Given the description of an element on the screen output the (x, y) to click on. 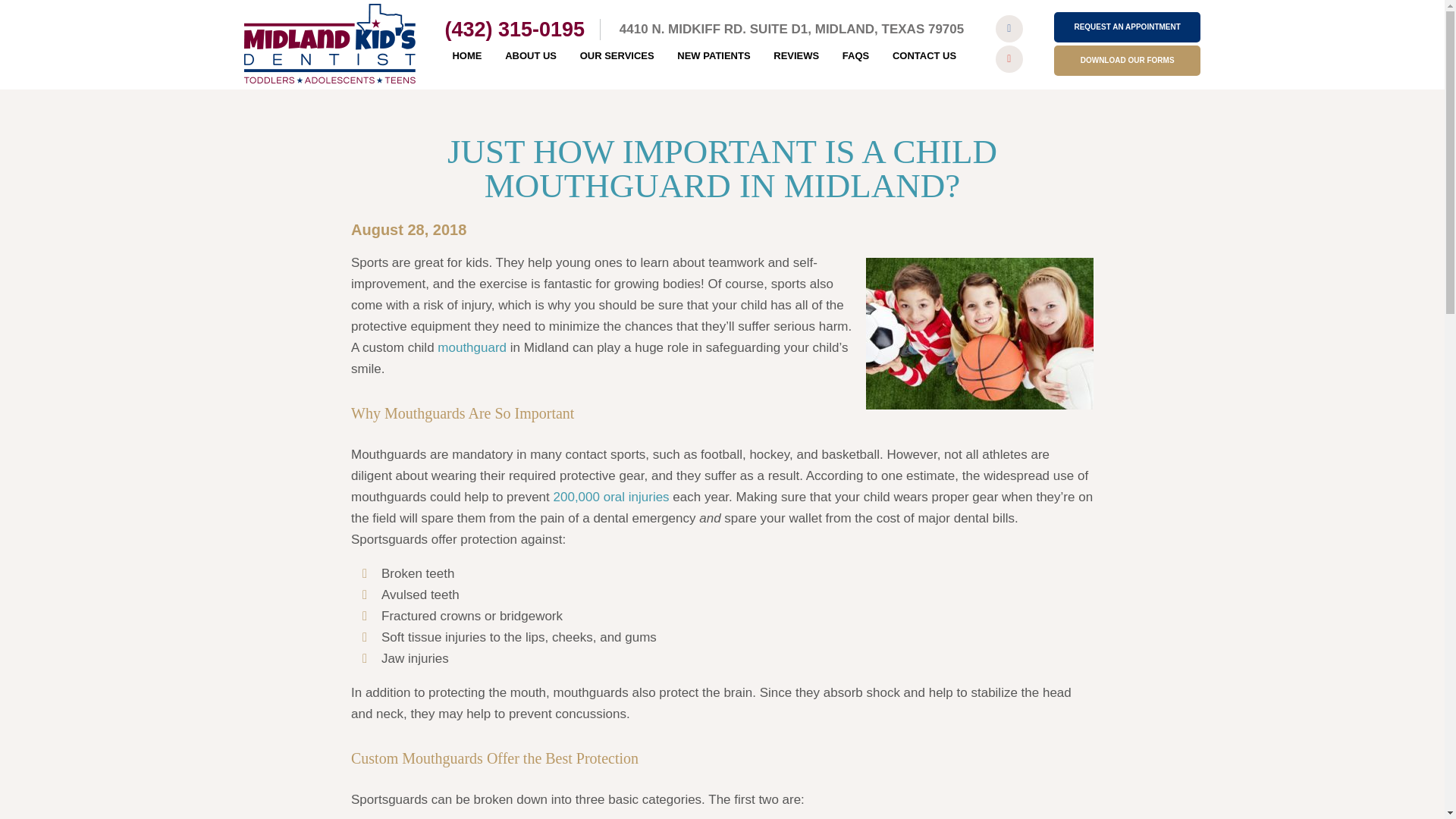
4410 N. MIDKIFF RD. SUITE D1, MIDLAND, TEXAS 79705 (791, 29)
DOWNLOAD OUR FORMS (1126, 60)
NEW PATIENTS (713, 55)
REVIEWS (796, 55)
HOME (466, 55)
OUR SERVICES (617, 55)
CONTACT US (924, 55)
REQUEST AN APPOINTMENT (1126, 27)
JUST HOW IMPORTANT IS A CHILD MOUTHGUARD IN MIDLAND? (721, 168)
FAQS (855, 55)
